Given the description of an element on the screen output the (x, y) to click on. 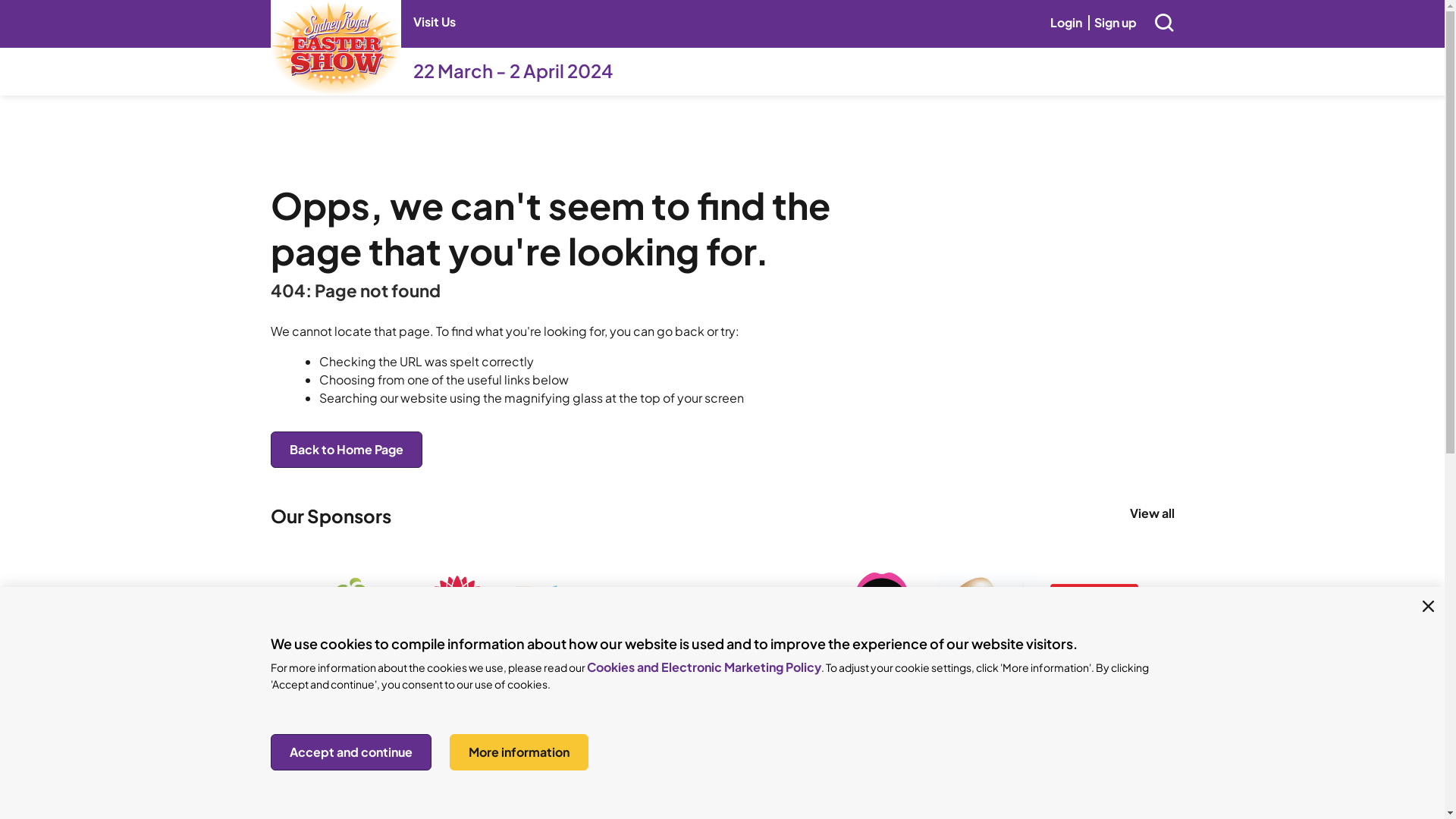
Visit Us Element type: text (433, 22)
More information Element type: text (517, 752)
Back to Home Page Element type: text (345, 449)
Accept and continue Element type: text (349, 752)
Login Element type: text (1065, 22)
Cookies and Electronic Marketing Policy Element type: text (703, 666)
View all Element type: text (1151, 513)
Sign up Element type: text (1114, 22)
